Given the description of an element on the screen output the (x, y) to click on. 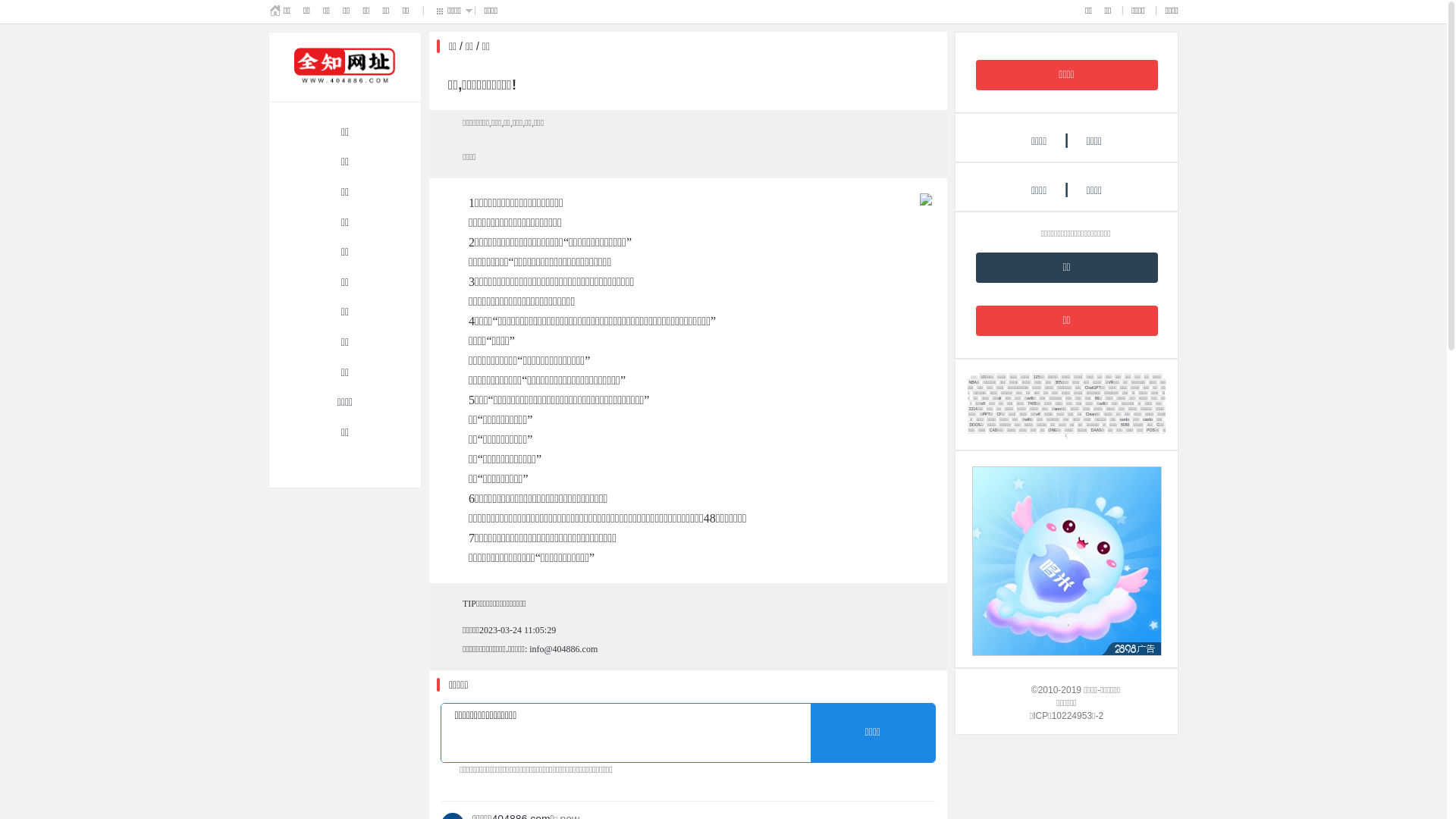
info@404886.com Element type: text (563, 648)
6080 Element type: text (1124, 424)
cardo Element type: text (1124, 419)
cardo Element type: text (1147, 419)
